Given the description of an element on the screen output the (x, y) to click on. 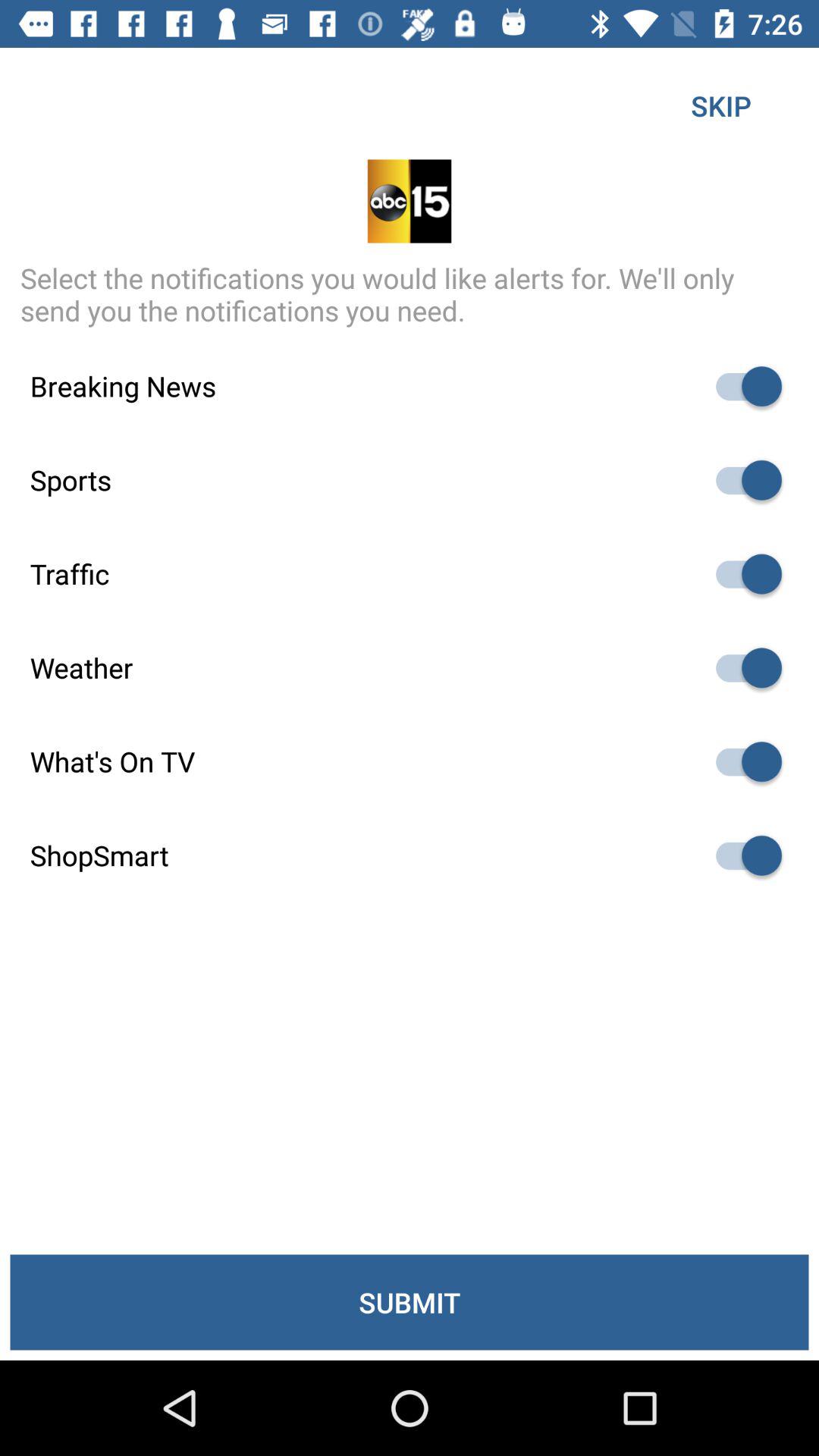
press the submit (409, 1302)
